Given the description of an element on the screen output the (x, y) to click on. 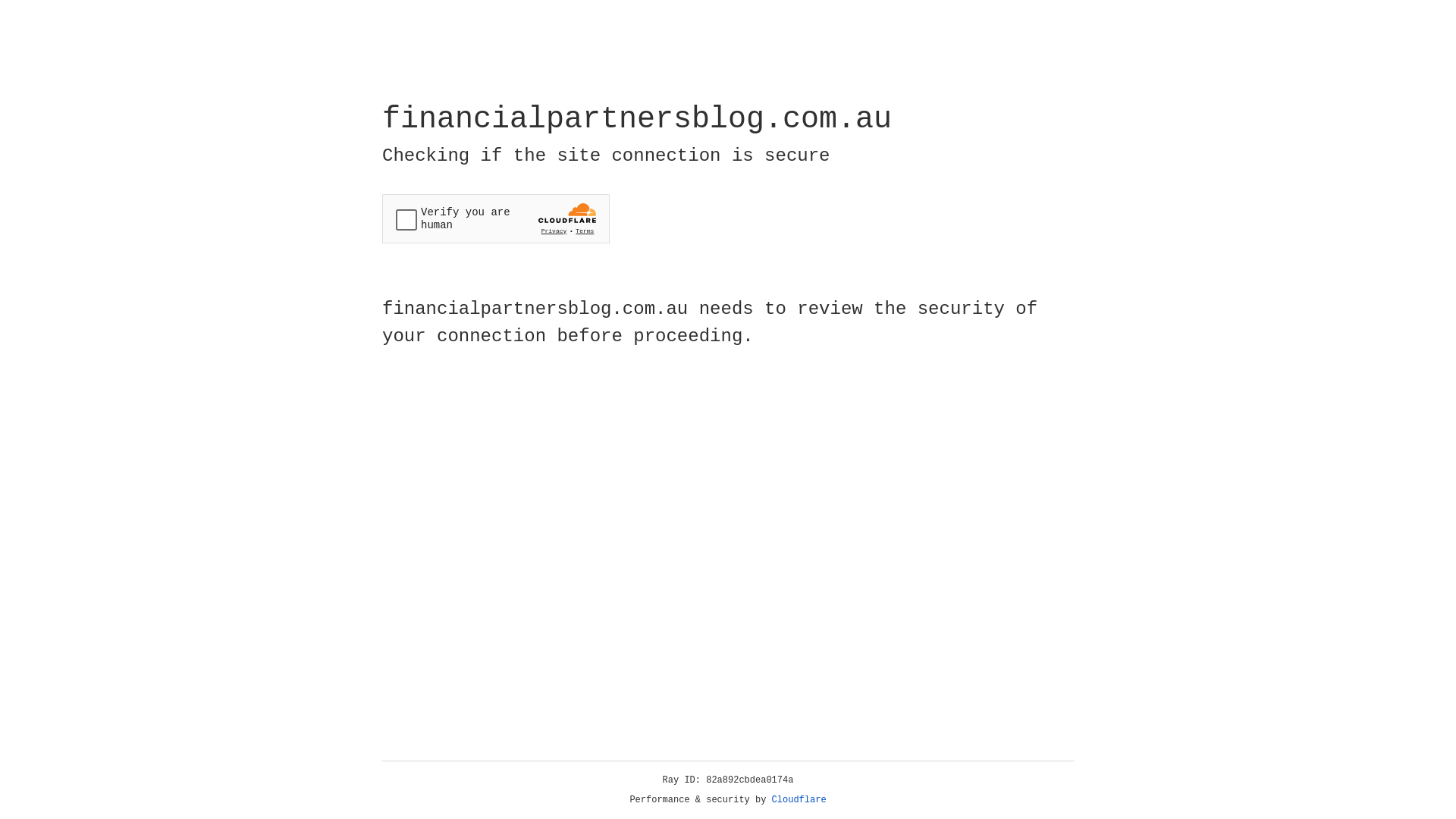
Widget containing a Cloudflare security challenge Element type: hover (495, 218)
Cloudflare Element type: text (798, 799)
